Given the description of an element on the screen output the (x, y) to click on. 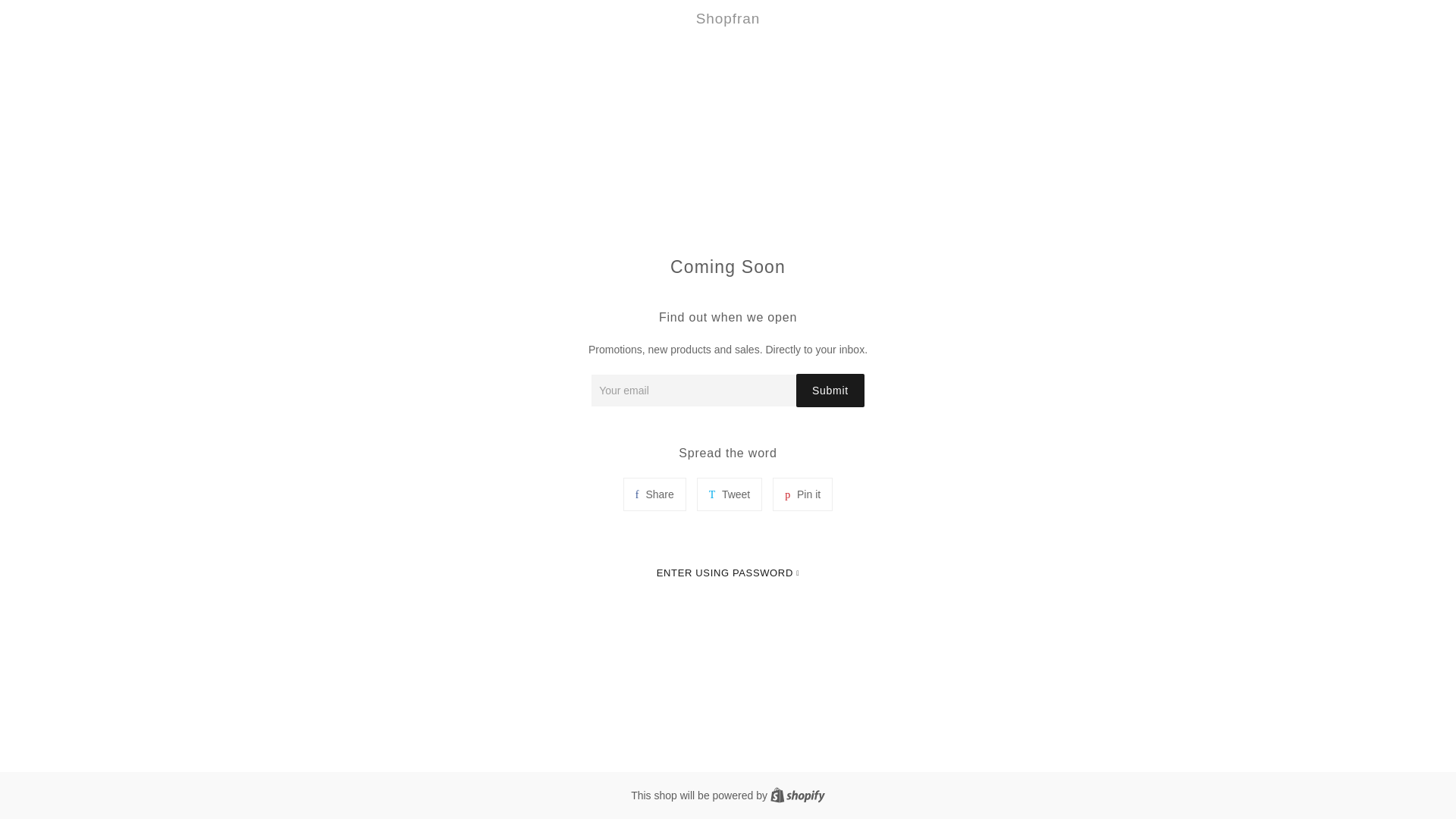
Share on Facebook (797, 795)
Pin on Pinterest (654, 494)
ENTER USING PASSWORD (802, 494)
Submit (727, 572)
Shopify logo (830, 390)
Create your own online store with Shopify (797, 795)
Tweet on Twitter (802, 494)
